Given the description of an element on the screen output the (x, y) to click on. 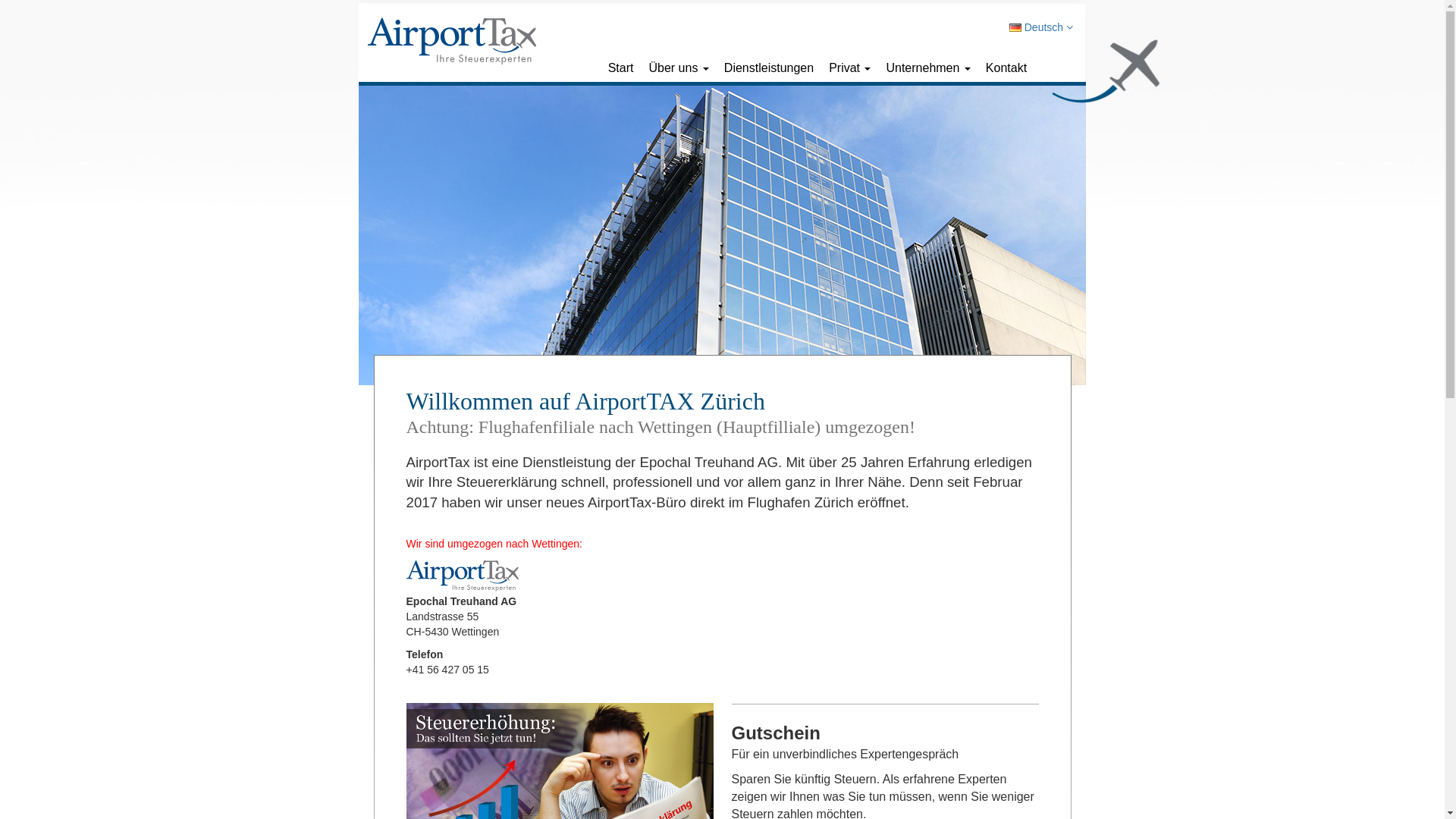
Unternehmen Element type: text (927, 68)
Deutsch Element type: text (1041, 26)
Privat Element type: text (849, 68)
Start Element type: text (620, 68)
Dienstleistungen Element type: text (768, 68)
Kontakt Element type: text (1006, 68)
